Given the description of an element on the screen output the (x, y) to click on. 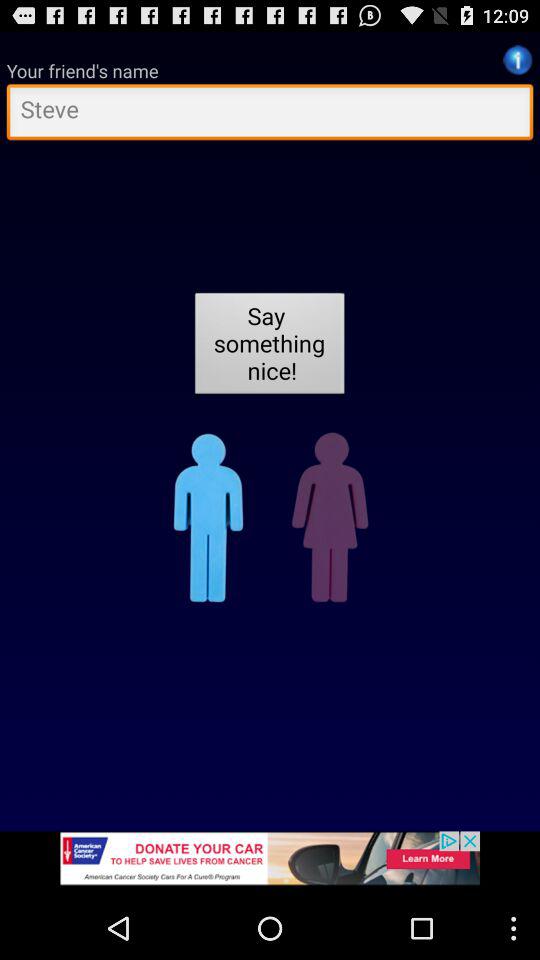
toggle a search bar (269, 113)
